Given the description of an element on the screen output the (x, y) to click on. 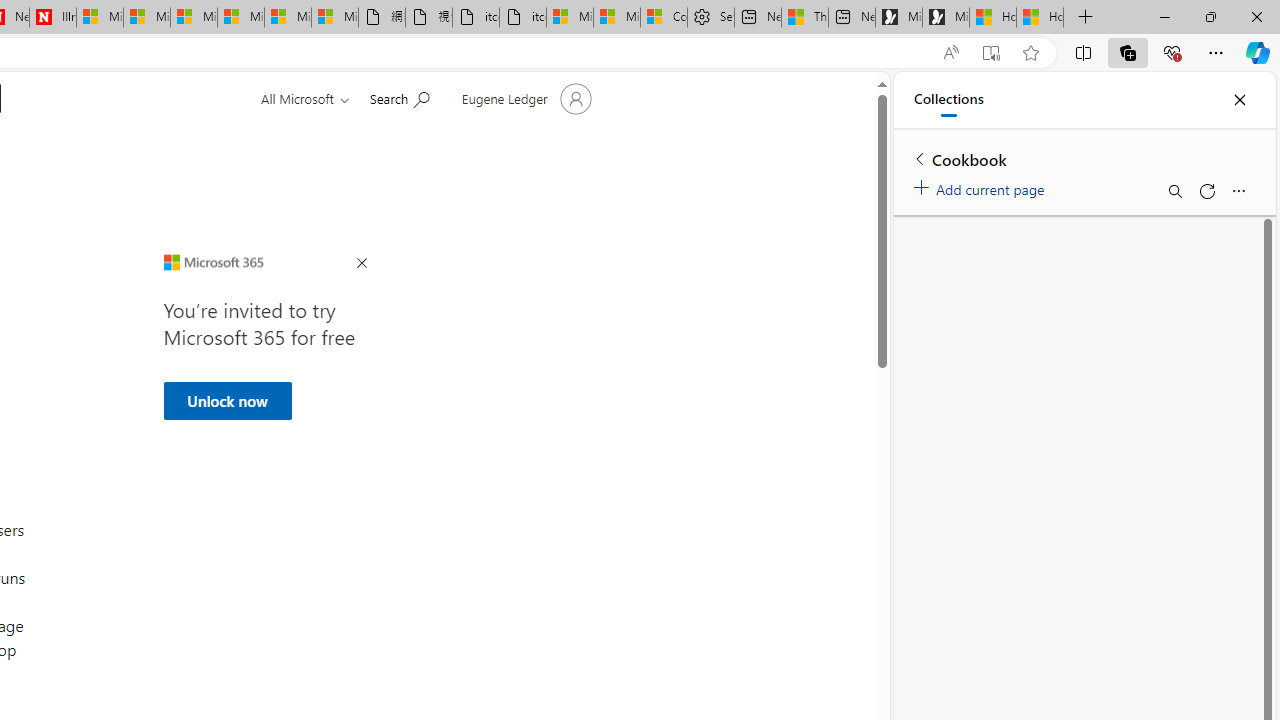
Three Ways To Stop Sweating So Much (805, 17)
Illness news & latest pictures from Newsweek.com (52, 17)
